Given the description of an element on the screen output the (x, y) to click on. 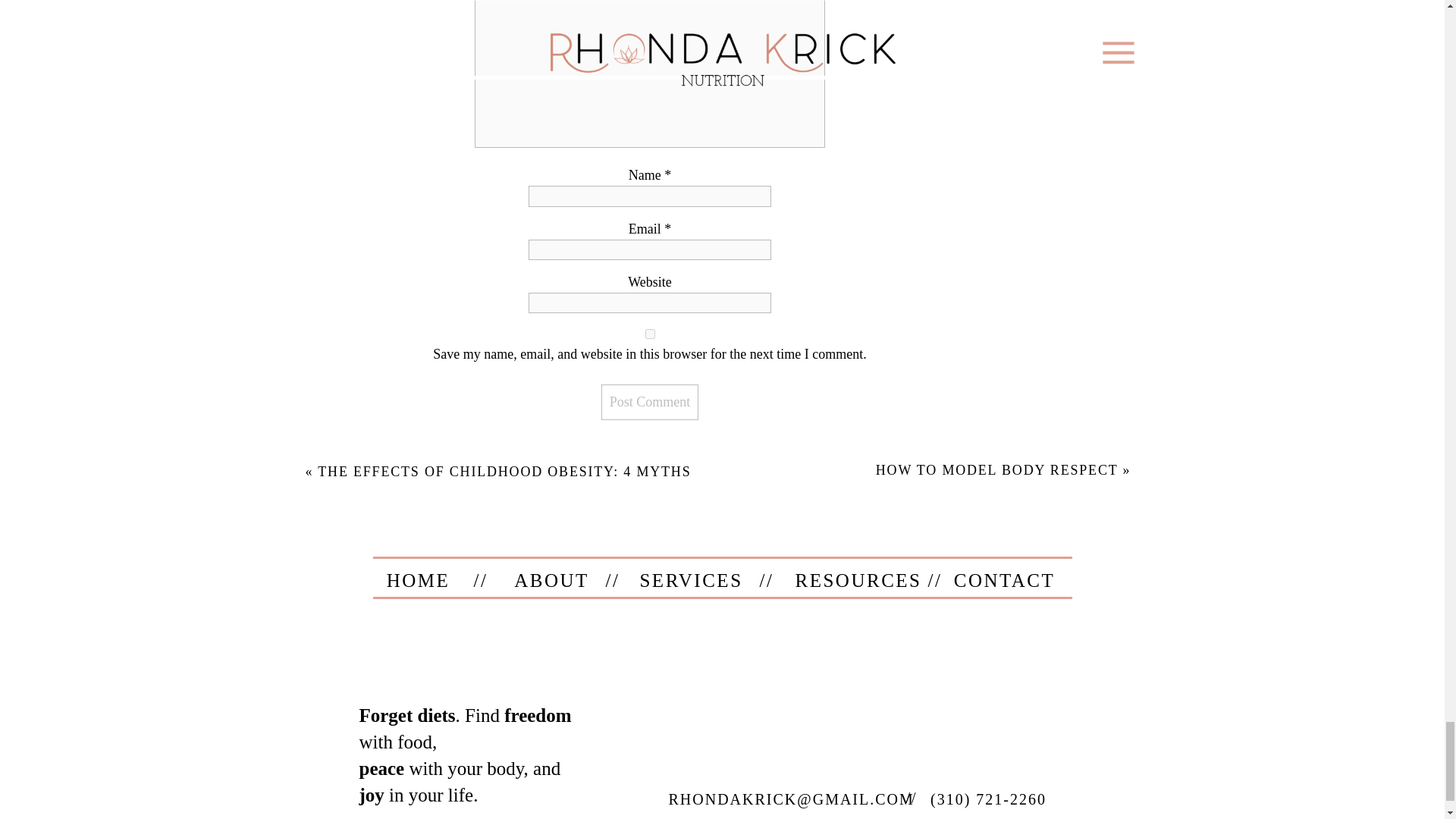
HOME (417, 578)
ABOUT (551, 578)
Post Comment (649, 402)
HOW TO MODEL BODY RESPECT (997, 469)
THE EFFECTS OF CHILDHOOD OBESITY: 4 MYTHS (503, 471)
RESOURCES (852, 578)
CONTACT (1004, 578)
Post Comment (649, 402)
yes (650, 334)
SERVICES (690, 578)
